Given the description of an element on the screen output the (x, y) to click on. 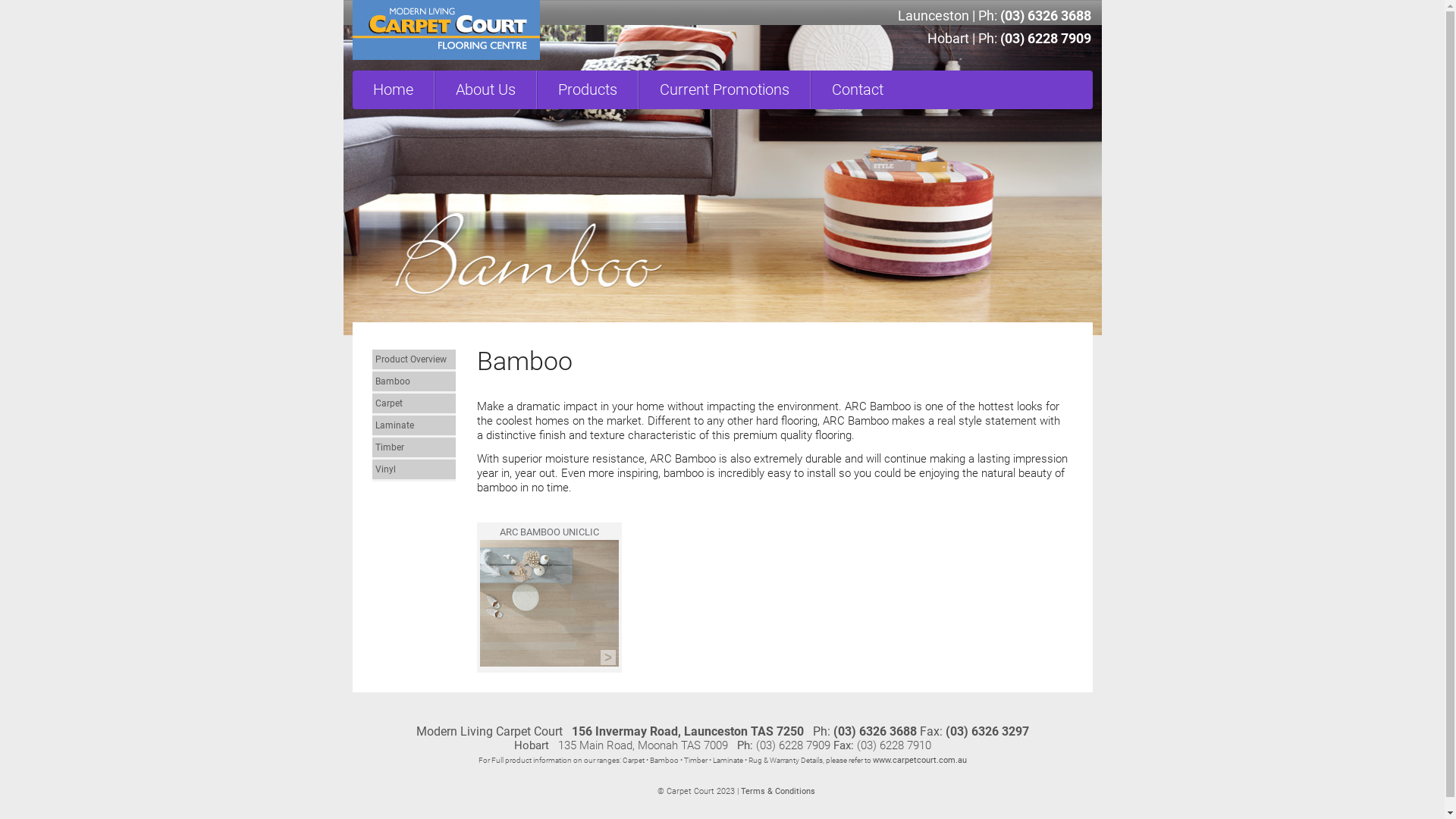
Carpet Element type: text (413, 403)
Permanent Link to Arc Bamboo Uniclic Element type: hover (548, 662)
Vinyl Element type: text (413, 469)
About Us Element type: text (484, 89)
Contact Element type: text (856, 89)
Bamboo Element type: text (413, 381)
Home Element type: text (392, 89)
Current Promotions Element type: text (723, 89)
Product Overview Element type: text (413, 359)
Laminate Element type: text (413, 425)
Products Element type: text (586, 89)
www.carpetcourt.com.au Element type: text (919, 760)
Terms & Conditions Element type: text (777, 791)
ARC BAMBOO UNICLIC Element type: text (548, 531)
Timber Element type: text (413, 447)
